Given the description of an element on the screen output the (x, y) to click on. 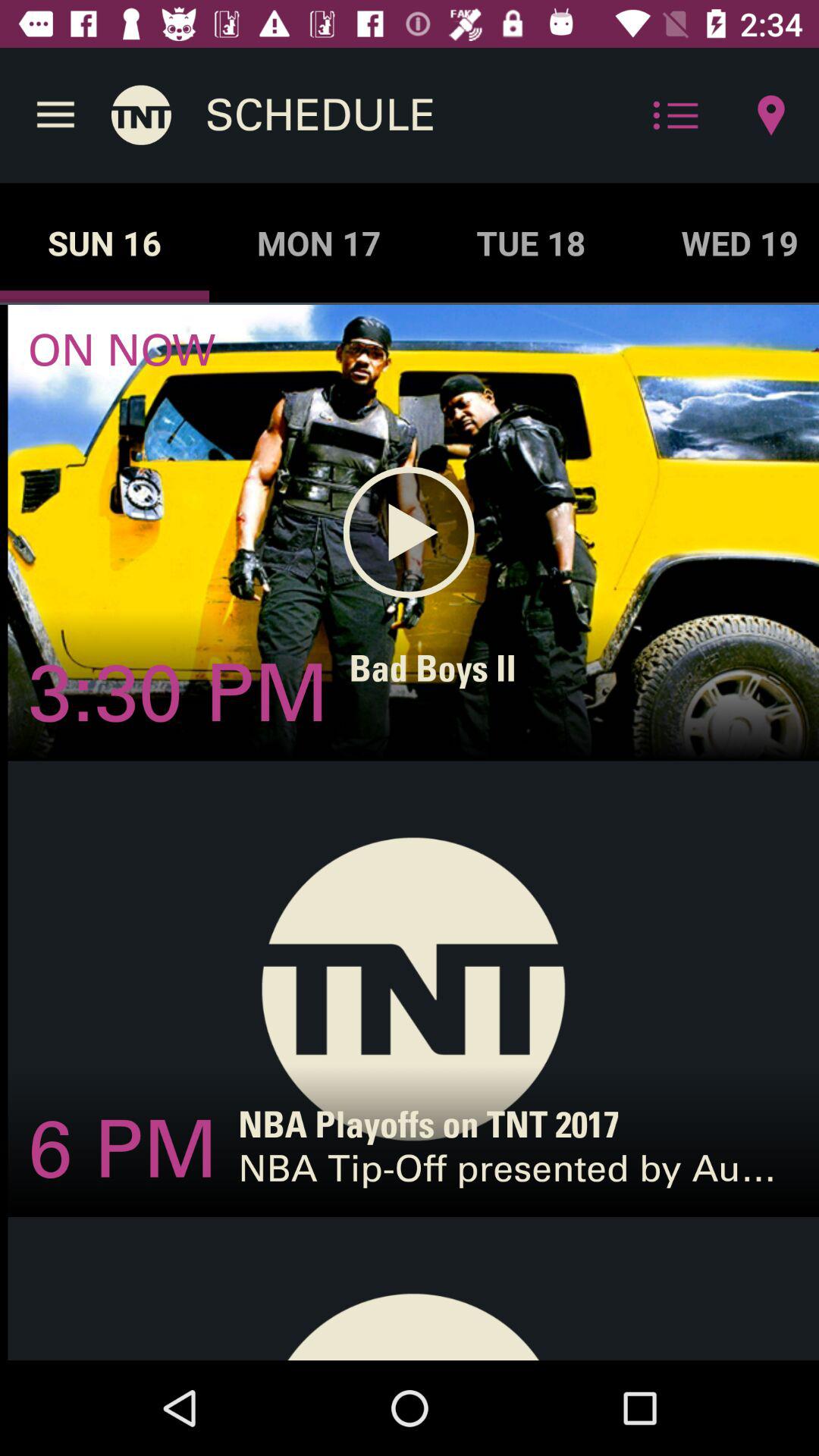
turn off the item next to the tue 18 (726, 242)
